Given the description of an element on the screen output the (x, y) to click on. 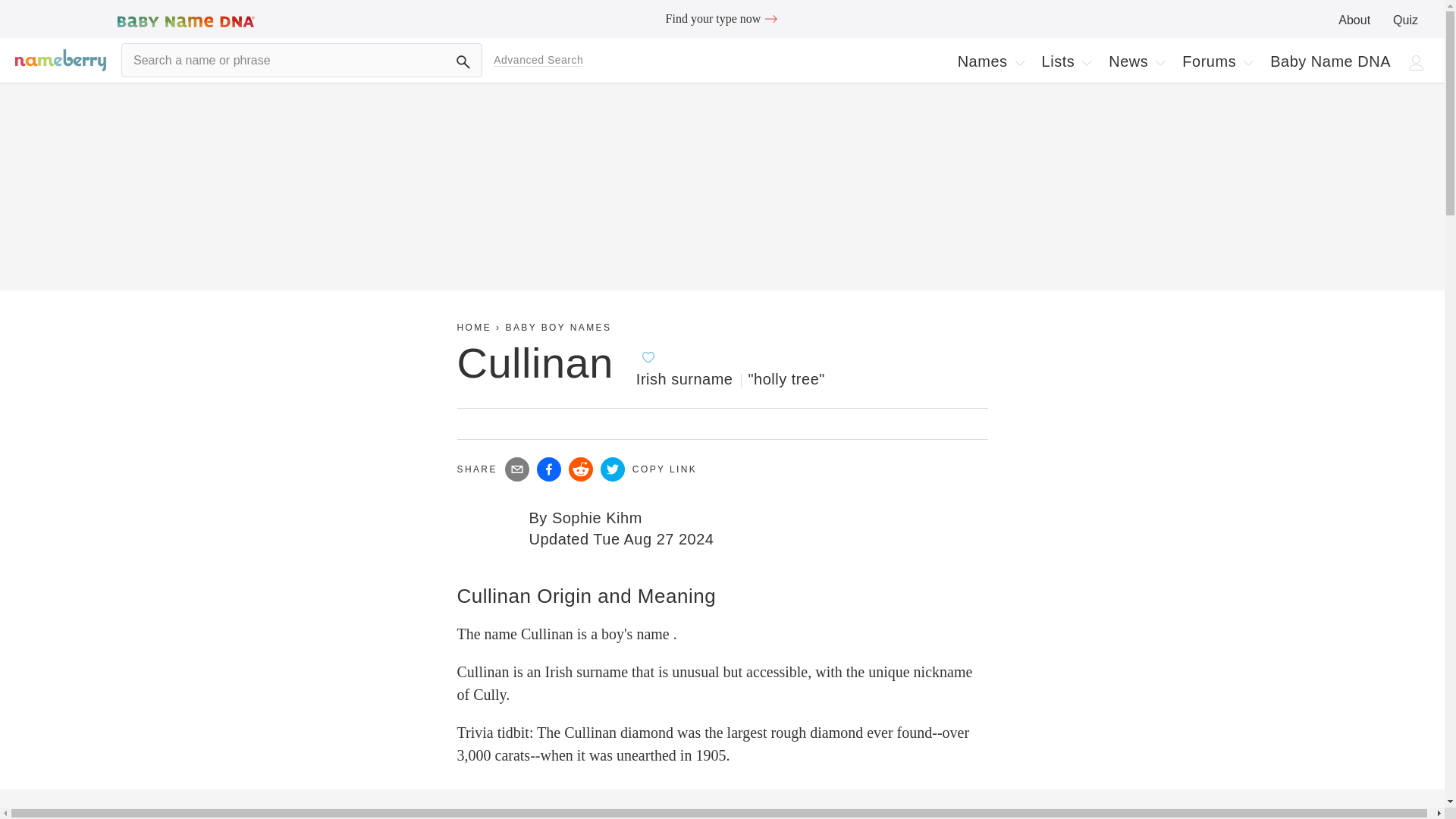
Chevron - Down (1247, 62)
Baby Name DNA (1329, 61)
Chevron - Down (1019, 62)
Chevron - Down (990, 61)
About (1086, 62)
HEART (1354, 19)
Chevron - Down (648, 356)
